Given the description of an element on the screen output the (x, y) to click on. 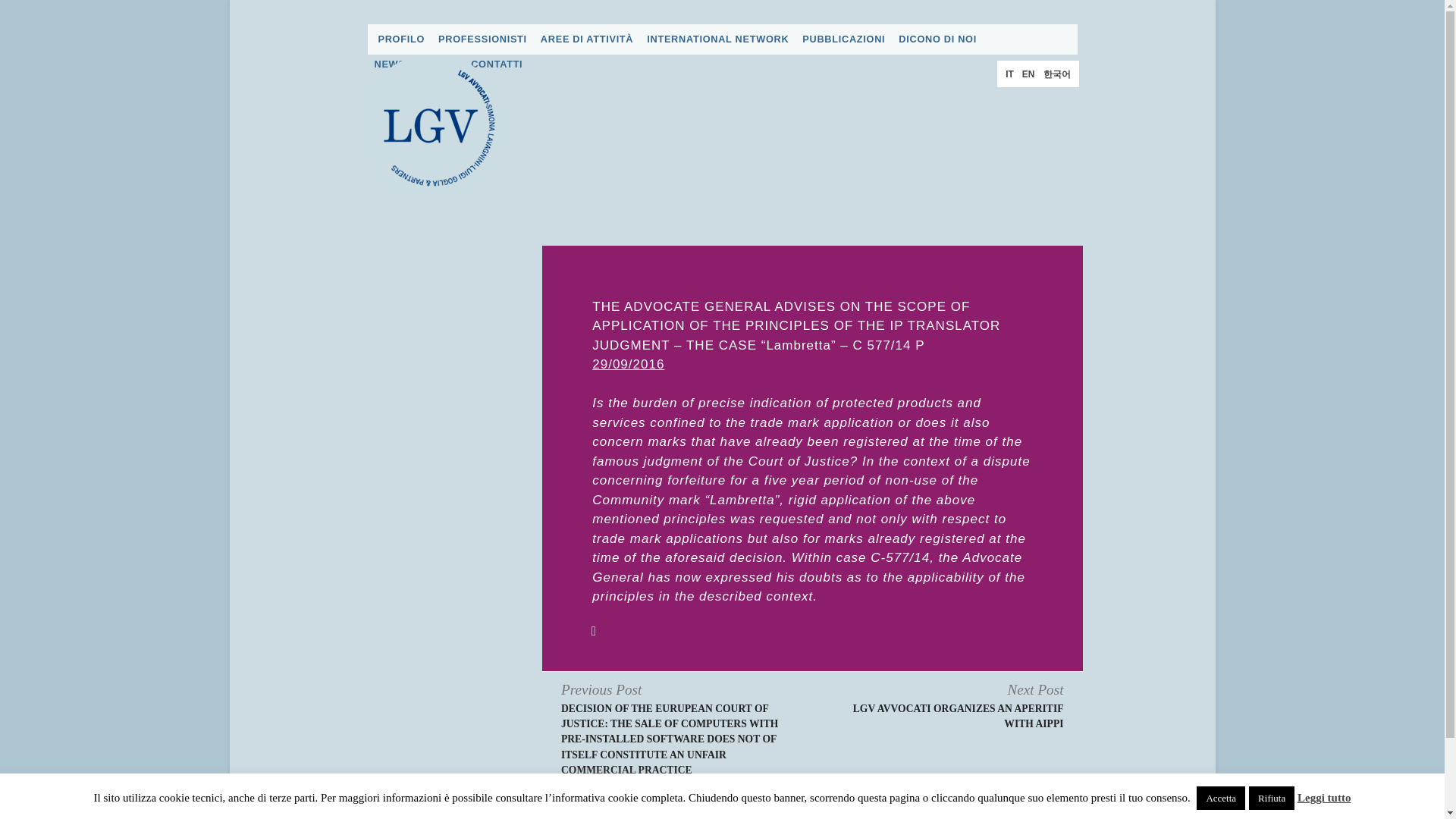
CONTATTI (496, 63)
Home (432, 124)
INTERNATIONAL NETWORK (717, 38)
PUBBLICAZIONI (843, 38)
PROFILO (401, 38)
PROFESSIONISTI (482, 38)
DICONO DI NOI (937, 38)
